Given the description of an element on the screen output the (x, y) to click on. 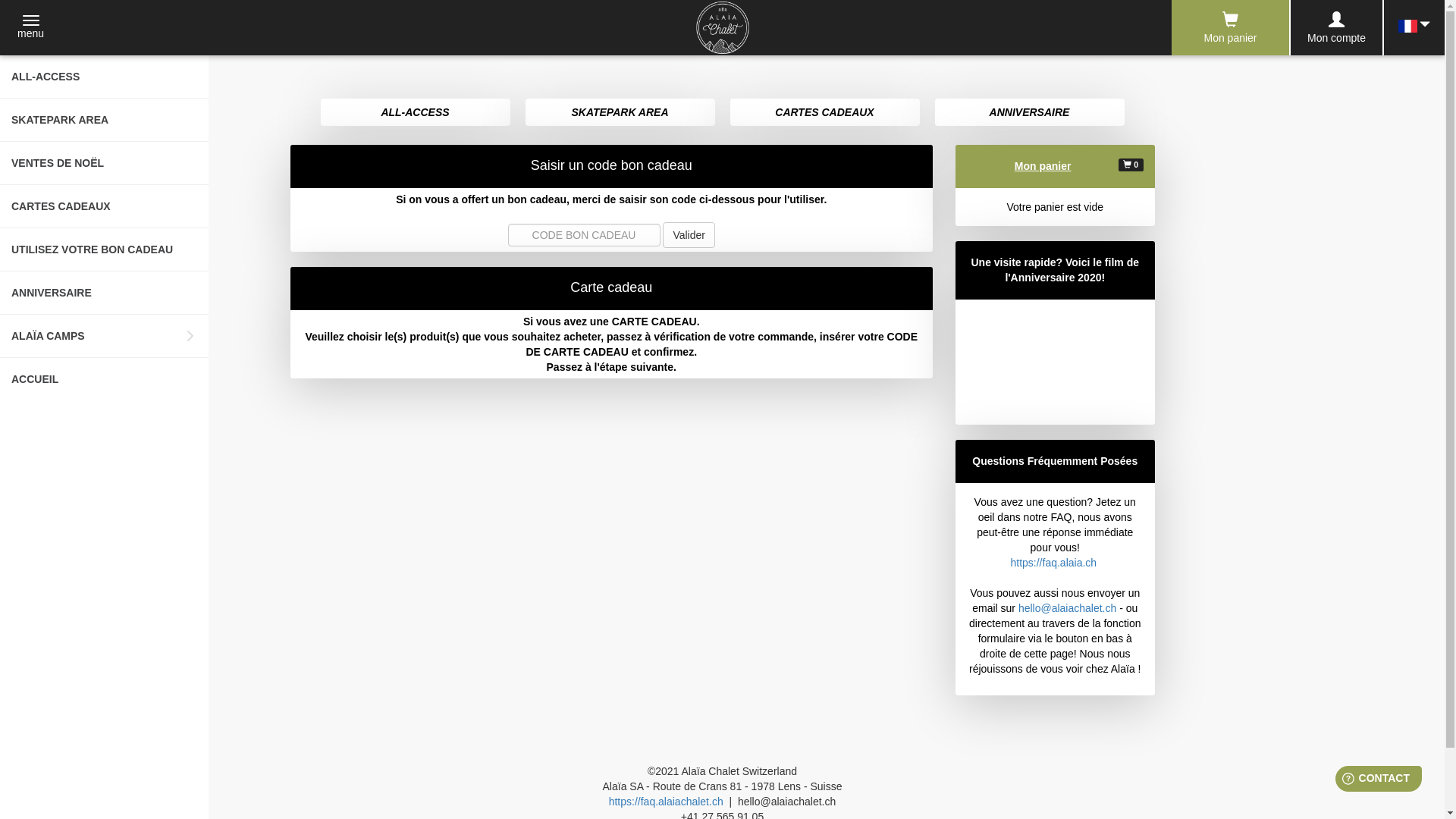
Mon compte Element type: text (1336, 27)
RETOUR Element type: text (327, 76)
Mon panier Element type: text (1042, 166)
https://faq.alaiachalet.ch Element type: text (665, 801)
hello@alaiachalet.ch Element type: text (1067, 608)
CARTES CADEAUX Element type: text (104, 206)
ANNIVERSAIRE Element type: text (104, 292)
SNOW CAMPS Element type: text (327, 197)
ALL-ACCESS Element type: text (414, 111)
https://faq.alaia.ch Element type: text (1053, 562)
SKATEPARK AREA Element type: text (619, 111)
ACTION CAMPS Element type: text (327, 154)
ACCUEIL Element type: text (327, 240)
SKATEPARK AREA Element type: text (104, 119)
menu Element type: text (30, 28)
ALL-ACCESS Element type: text (104, 76)
ACCUEIL Element type: text (104, 378)
UTILISEZ VOTRE BON CADEAU Element type: text (104, 249)
Valider Element type: text (688, 234)
CARTES CADEAUX Element type: text (824, 111)
Mon panier Element type: text (1230, 27)
ANNIVERSAIRE Element type: text (1028, 111)
